Given the description of an element on the screen output the (x, y) to click on. 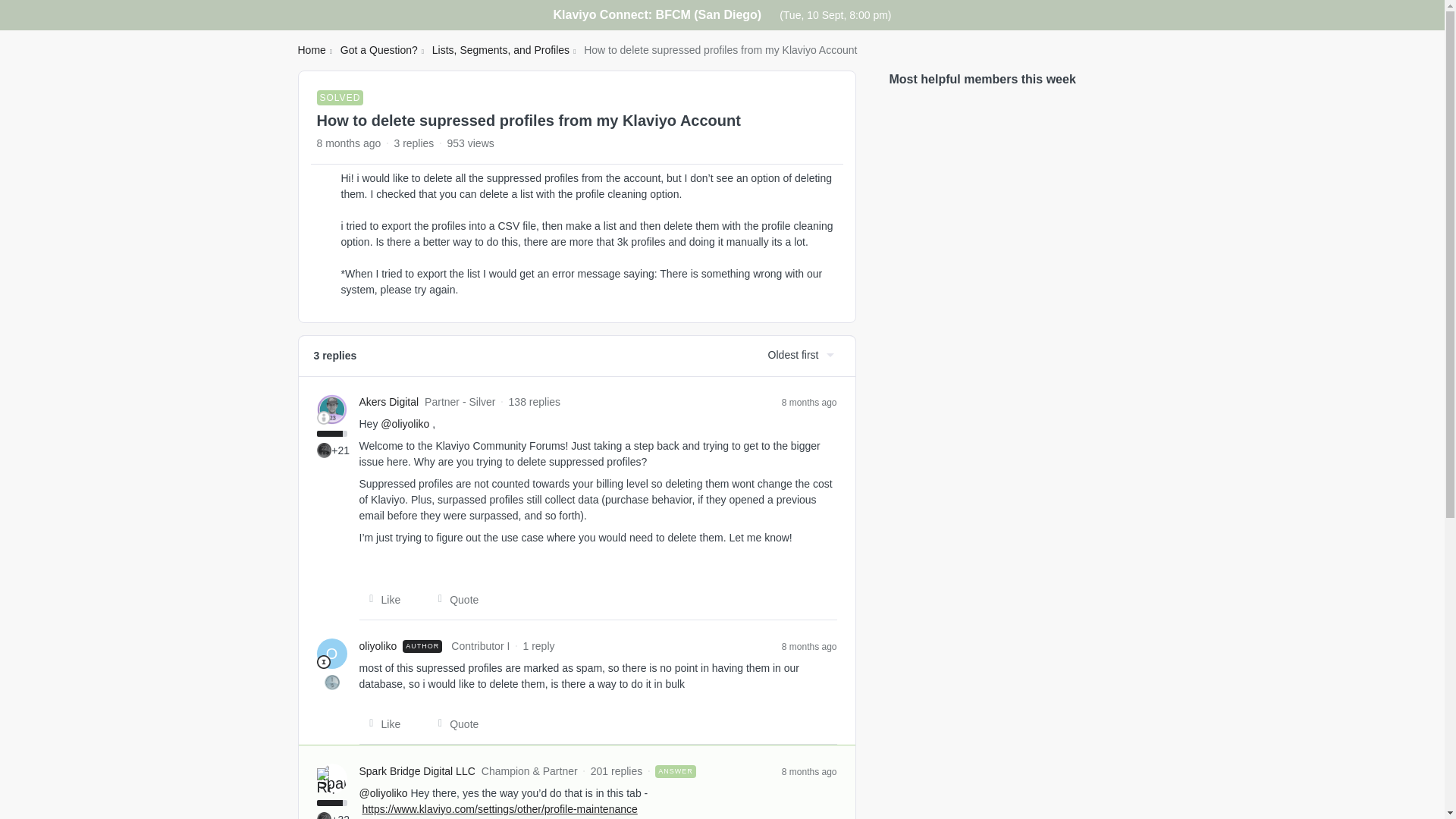
Like (380, 598)
Akers Digital (389, 401)
Home (310, 50)
Spark Bridge Digital LLC (417, 771)
Lists, Segments, and Profiles (500, 50)
8 months ago (809, 645)
First Post (331, 682)
8 months ago (809, 770)
oliyoliko (378, 646)
Like (380, 724)
